Given the description of an element on the screen output the (x, y) to click on. 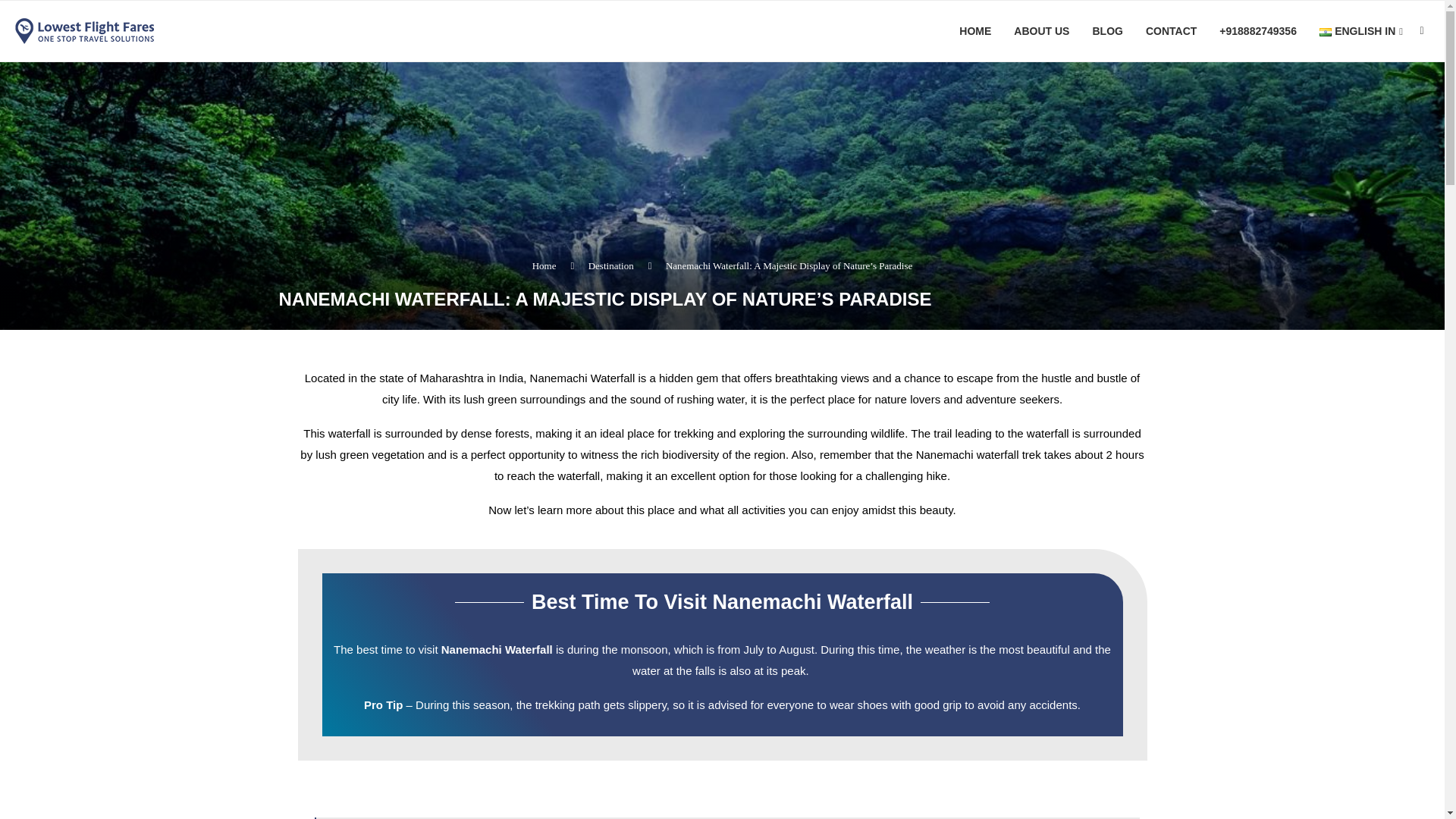
ABOUT US (1040, 30)
ENGLISH IN (1361, 31)
Destination (610, 265)
Home (544, 265)
